Given the description of an element on the screen output the (x, y) to click on. 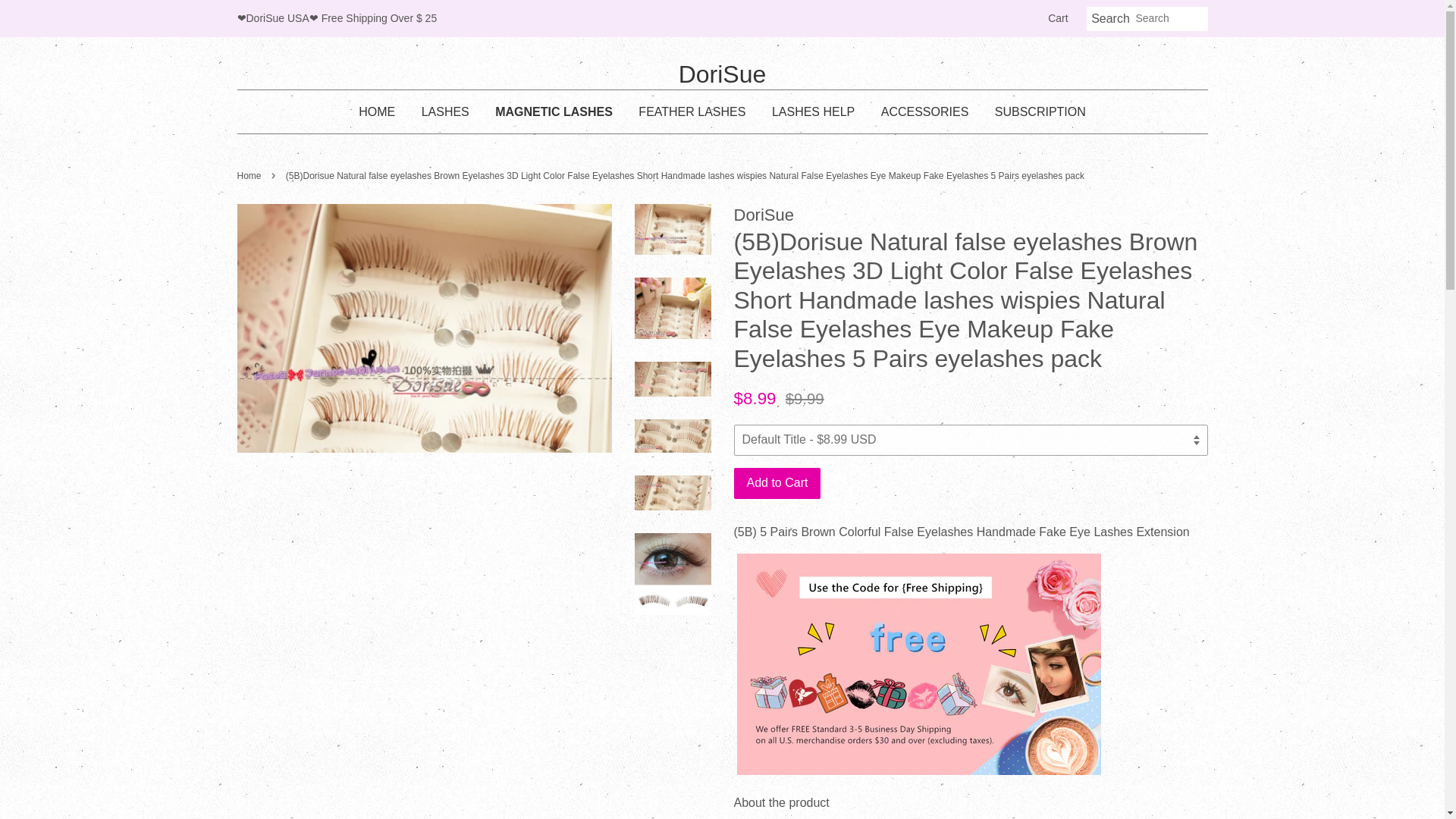
DoriSue (722, 73)
Cart (1057, 18)
HOME (382, 111)
Search (1110, 18)
Back to the frontpage (249, 175)
LASHES (445, 111)
MAGNETIC LASHES (553, 111)
